Given the description of an element on the screen output the (x, y) to click on. 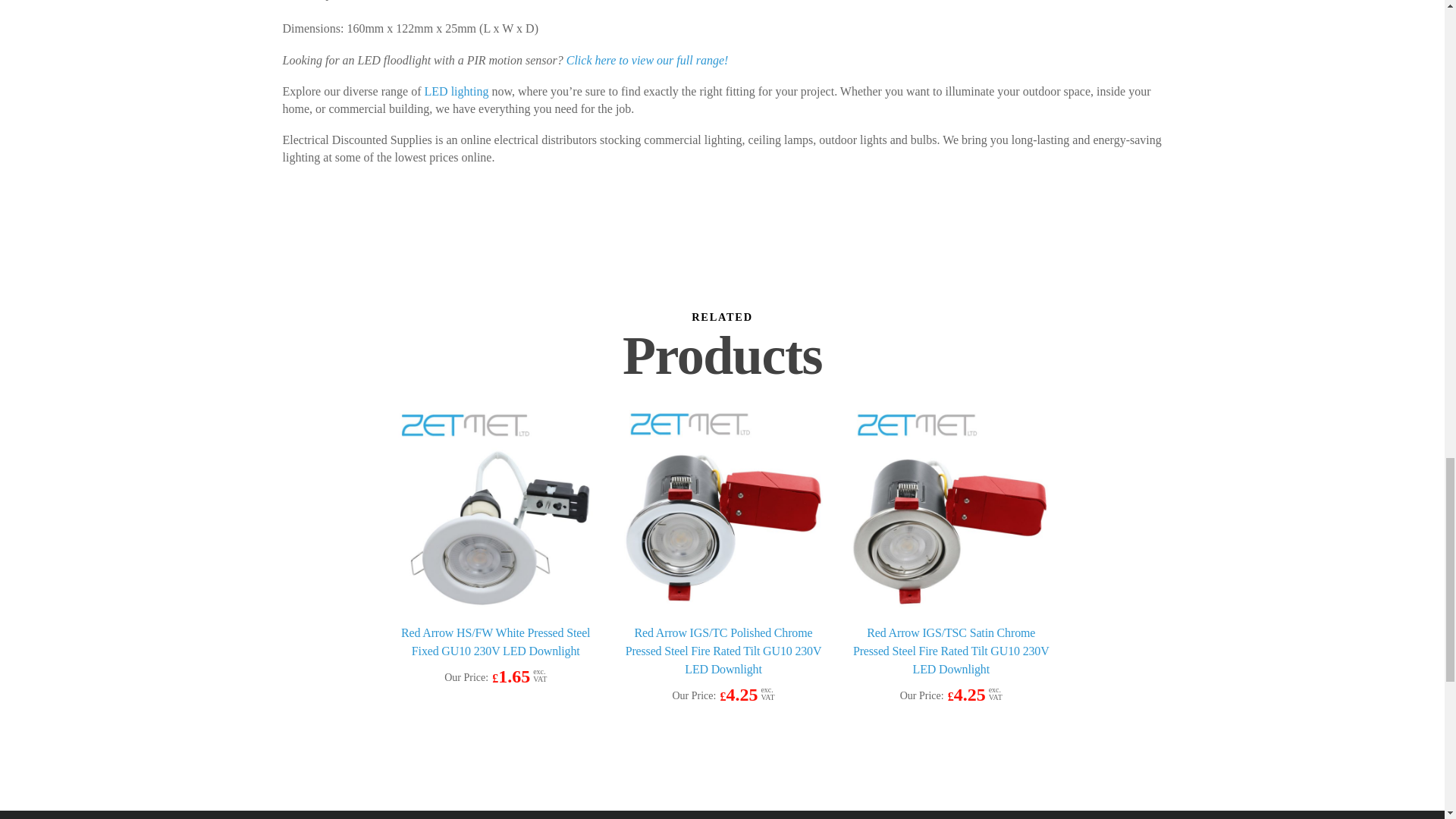
HS-FW GU10 Downlight (495, 509)
IGS-TC Fire Rated GU10 Downlight (723, 509)
IGS-TSC Fire Rated GU10 Downlight (950, 509)
